Given the description of an element on the screen output the (x, y) to click on. 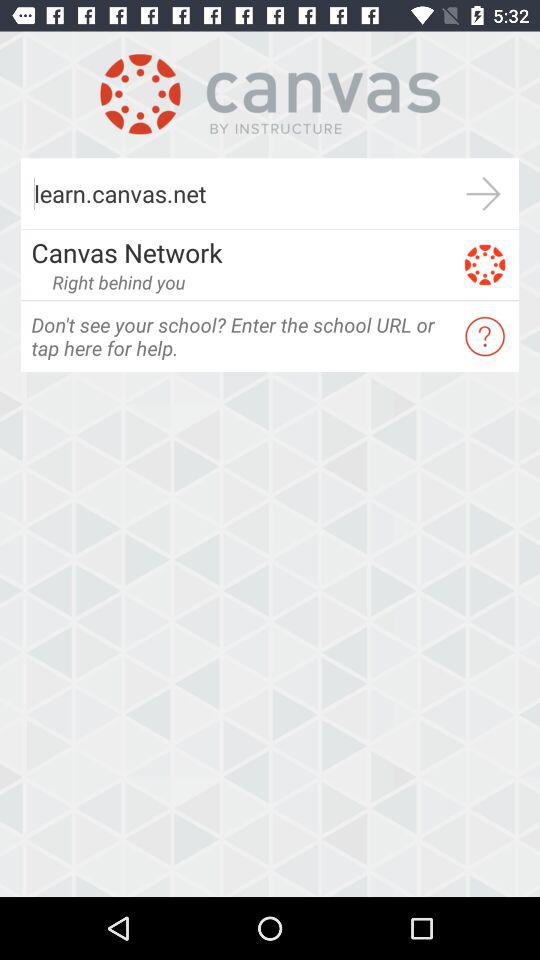
press the canvas network app (240, 252)
